Given the description of an element on the screen output the (x, y) to click on. 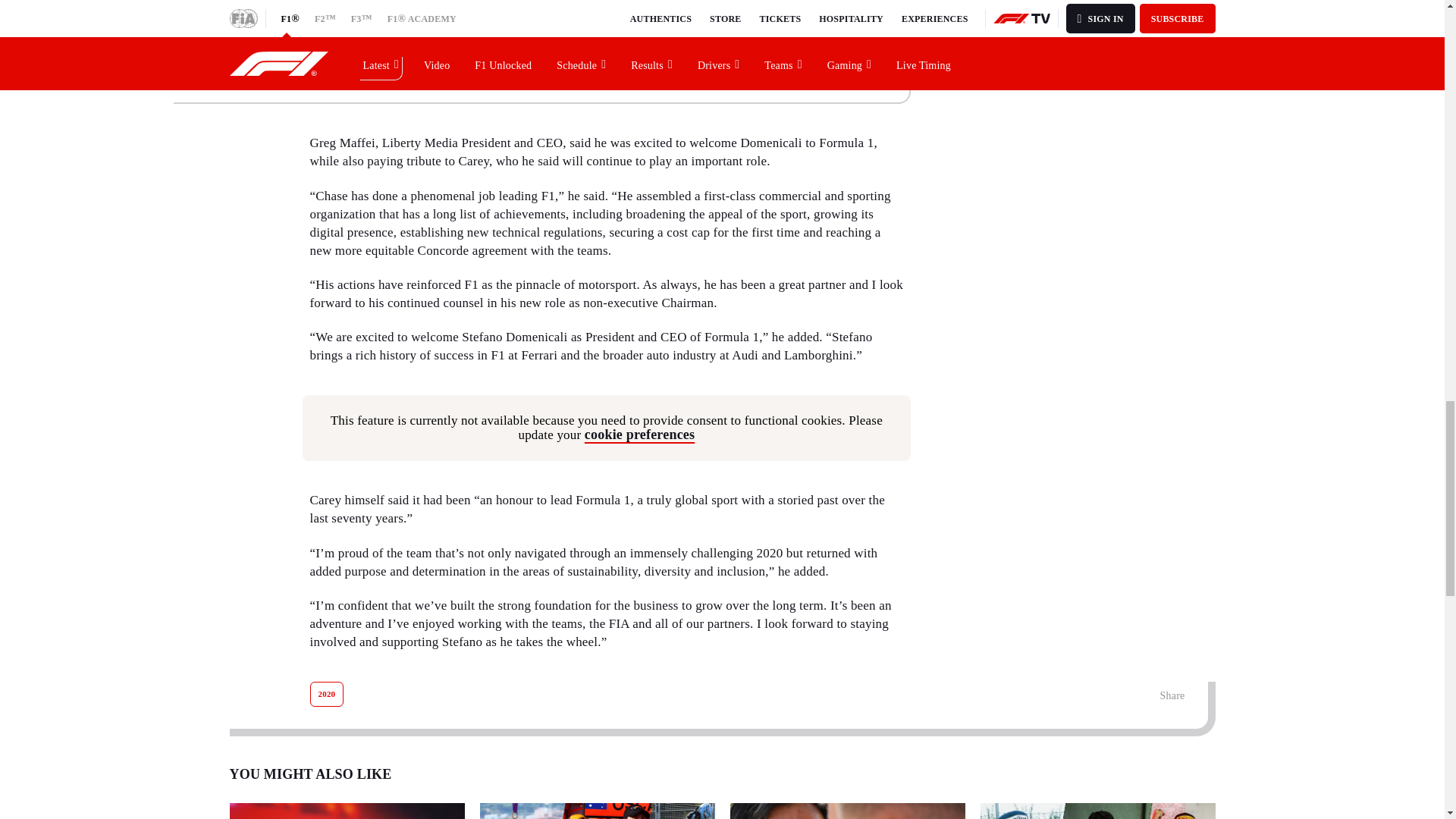
cookie preferences (639, 434)
2020 (325, 693)
